Given the description of an element on the screen output the (x, y) to click on. 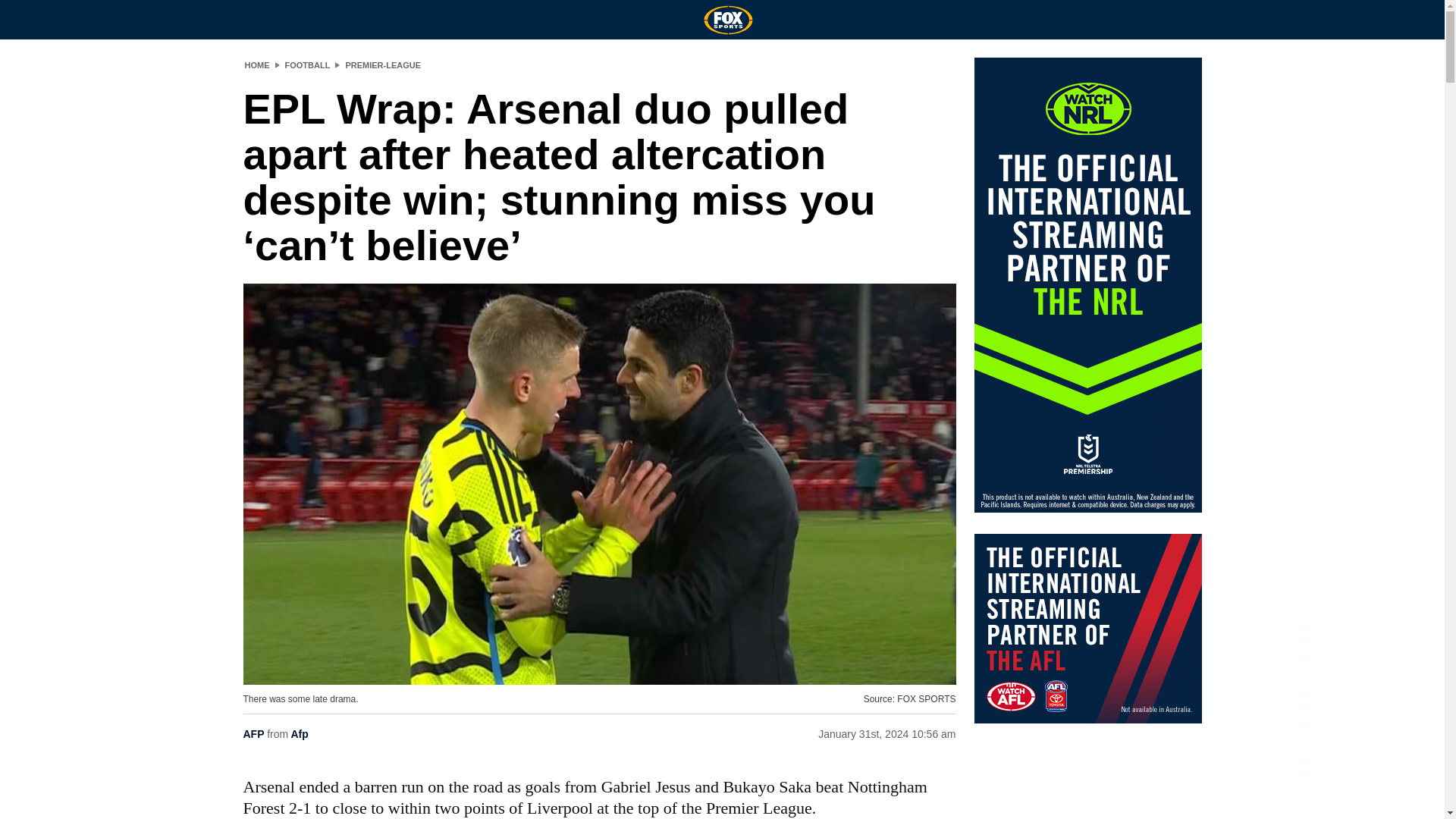
3rd party ad content (1087, 628)
HOME (256, 64)
FOOTBALL (307, 64)
PREMIER-LEAGUE (382, 64)
